Given the description of an element on the screen output the (x, y) to click on. 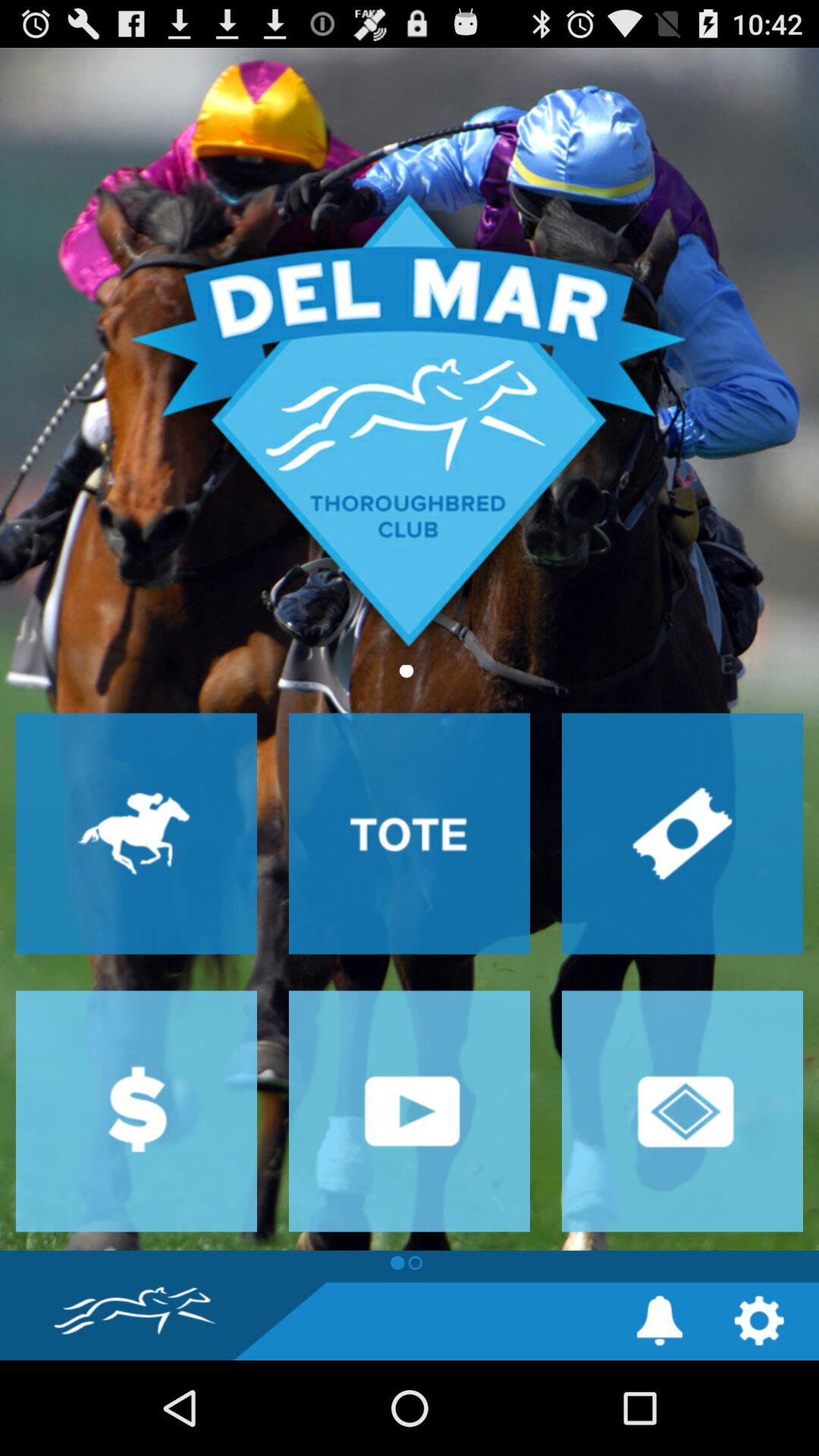
adjust personal settings (759, 1320)
